Given the description of an element on the screen output the (x, y) to click on. 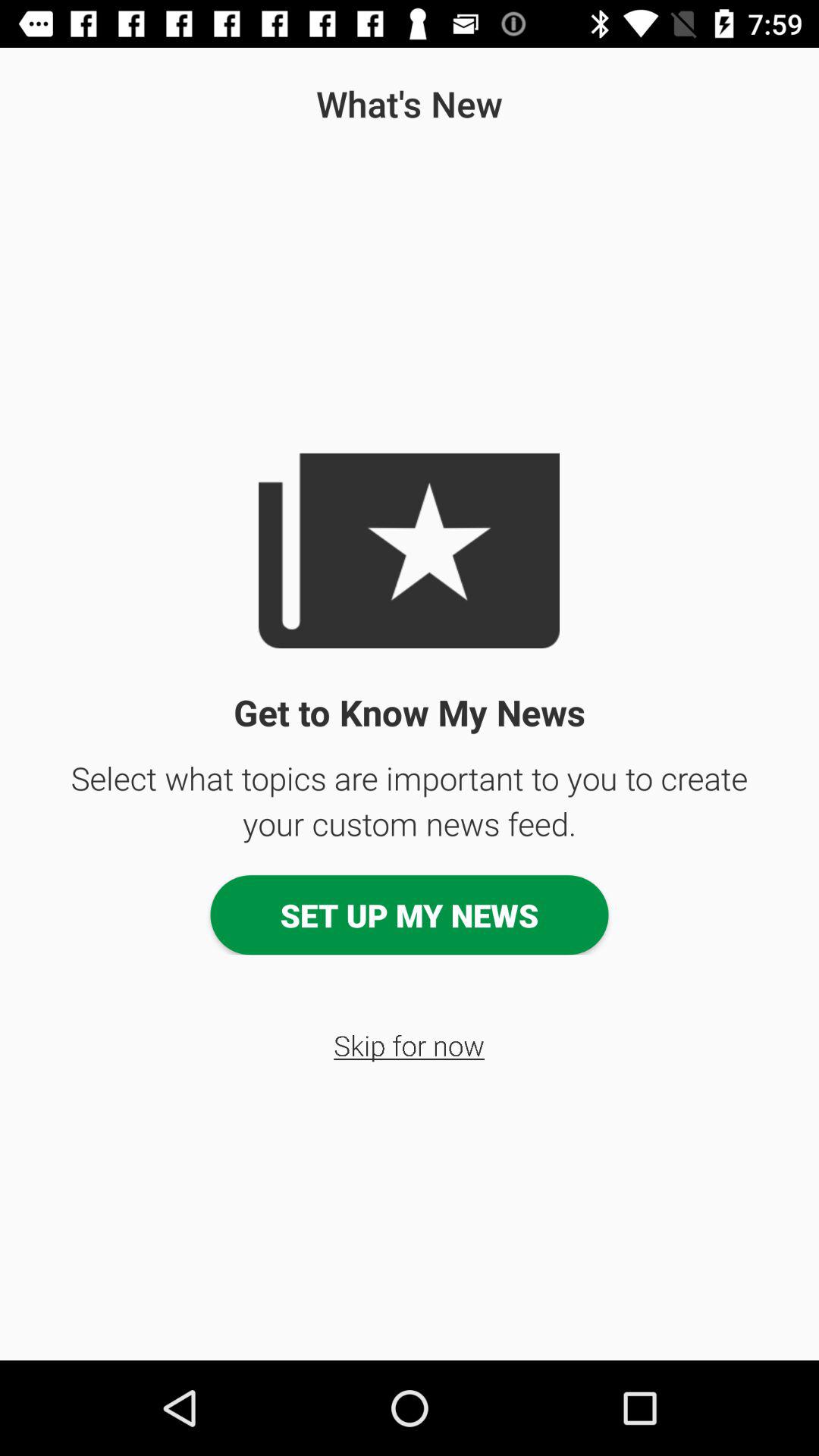
launch app above the skip for now (409, 914)
